Given the description of an element on the screen output the (x, y) to click on. 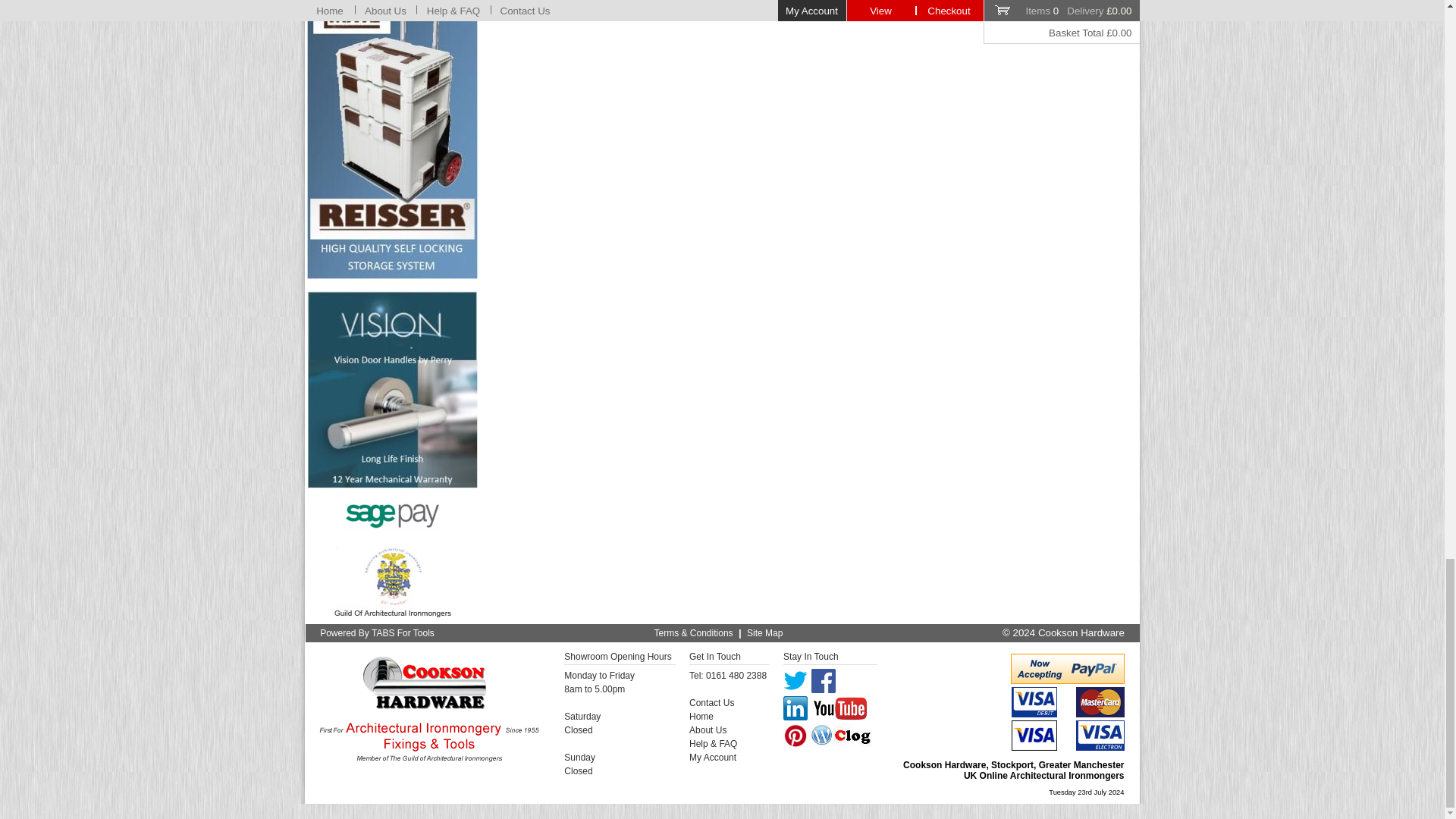
Reisser Crate Mate Storage System. (392, 139)
Vision Door Handles by Perry. (392, 389)
Sagepay (392, 515)
